Given the description of an element on the screen output the (x, y) to click on. 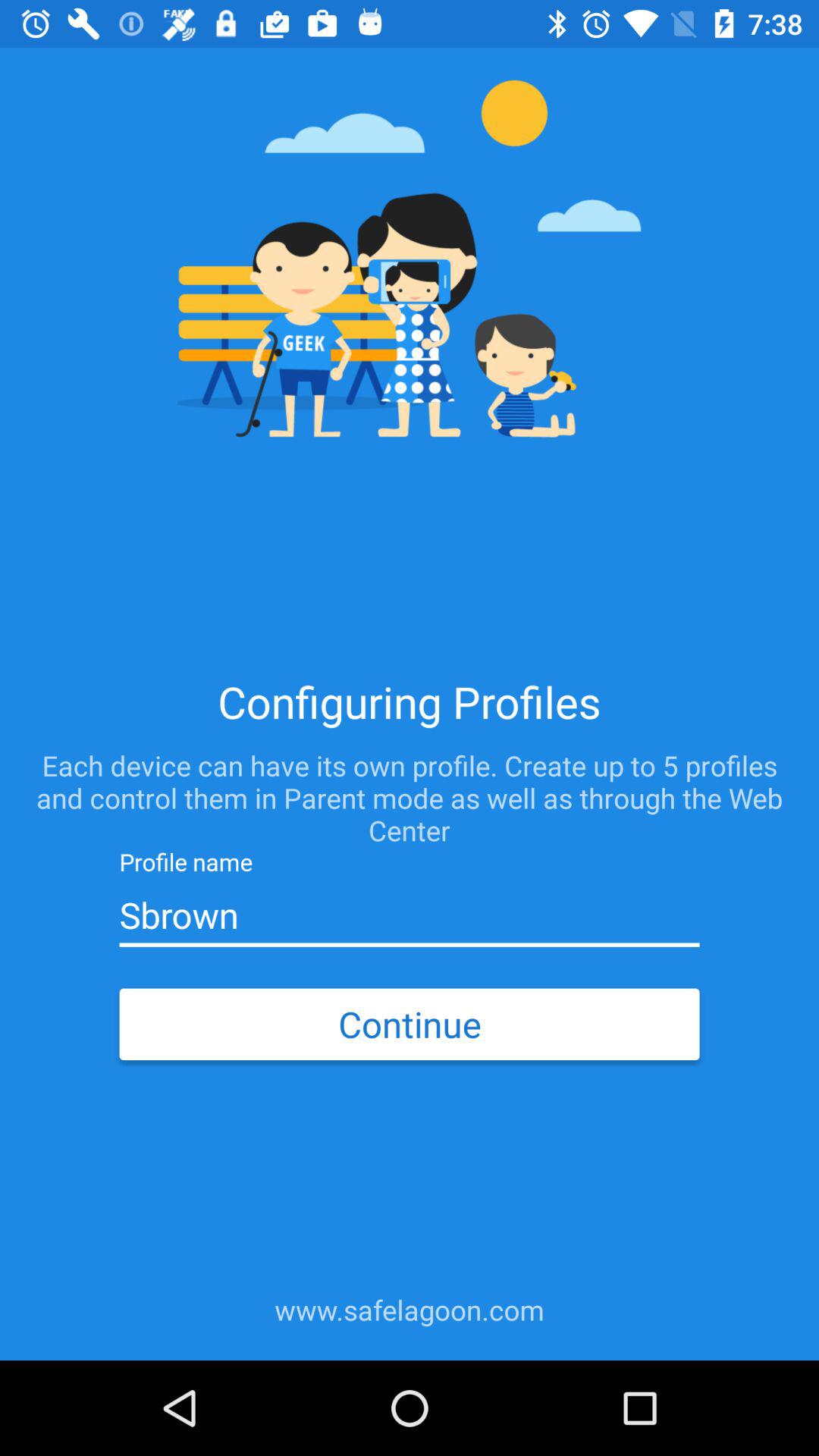
choose sbrown (409, 915)
